Given the description of an element on the screen output the (x, y) to click on. 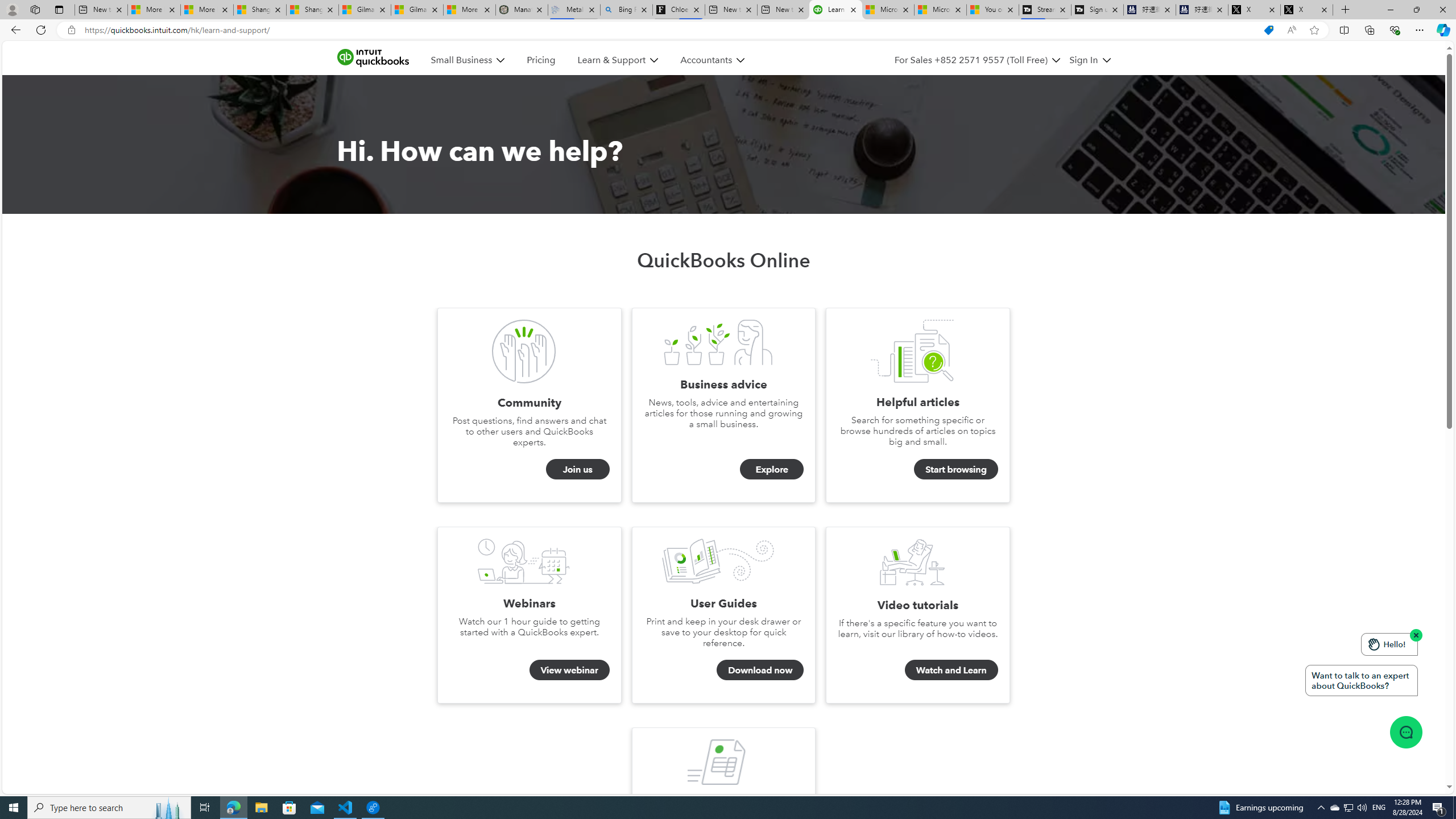
hand-icon (1373, 644)
For Sales +852 2571 9557 (Toll Free) (977, 60)
Accountants (712, 60)
quickbooks (372, 57)
Watch and Learn (951, 670)
Pricing (541, 60)
Bing Real Estate - Home sales and rental listings (626, 9)
